Given the description of an element on the screen output the (x, y) to click on. 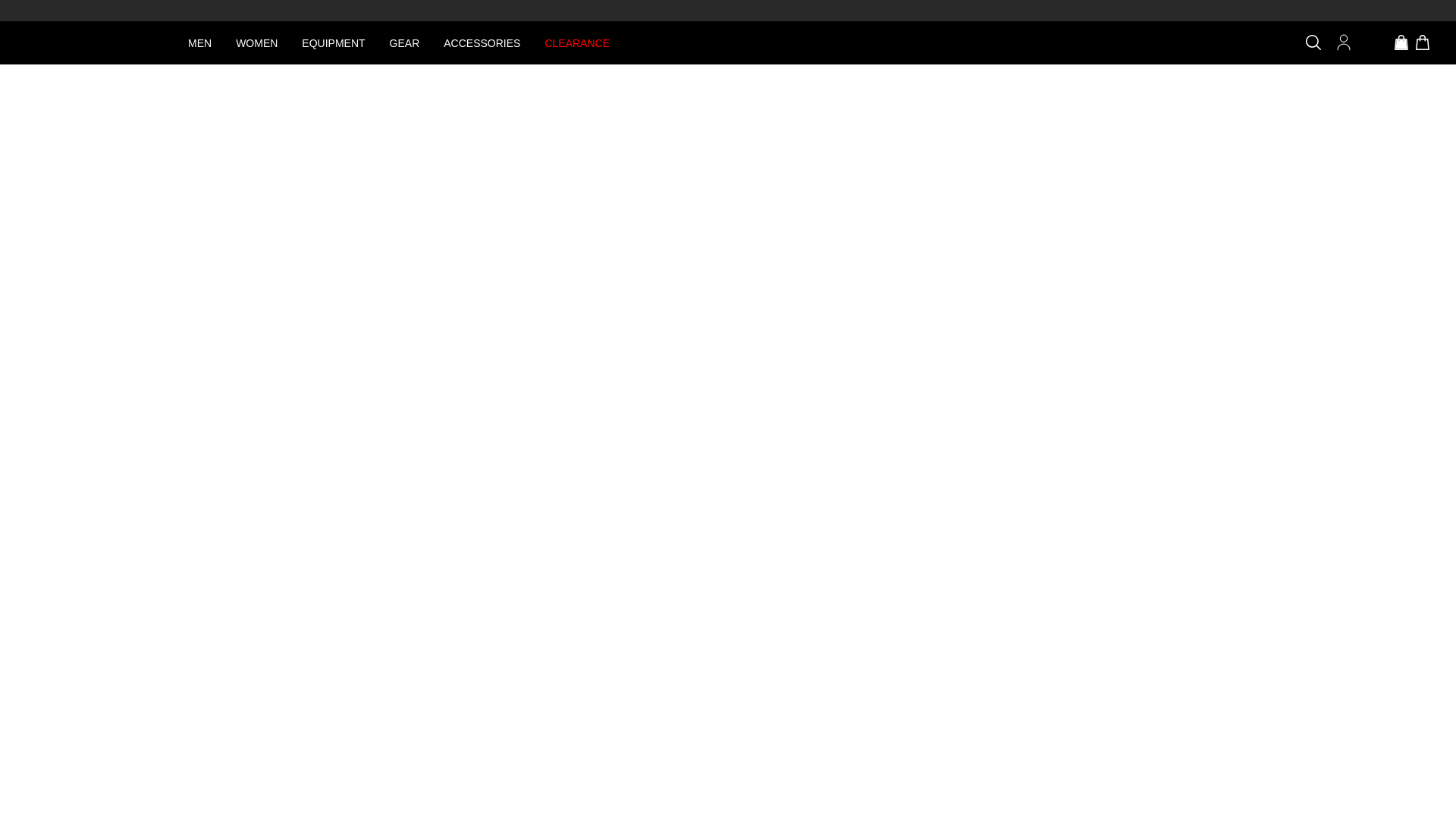
MEN (199, 42)
WOMEN (256, 42)
